Given the description of an element on the screen output the (x, y) to click on. 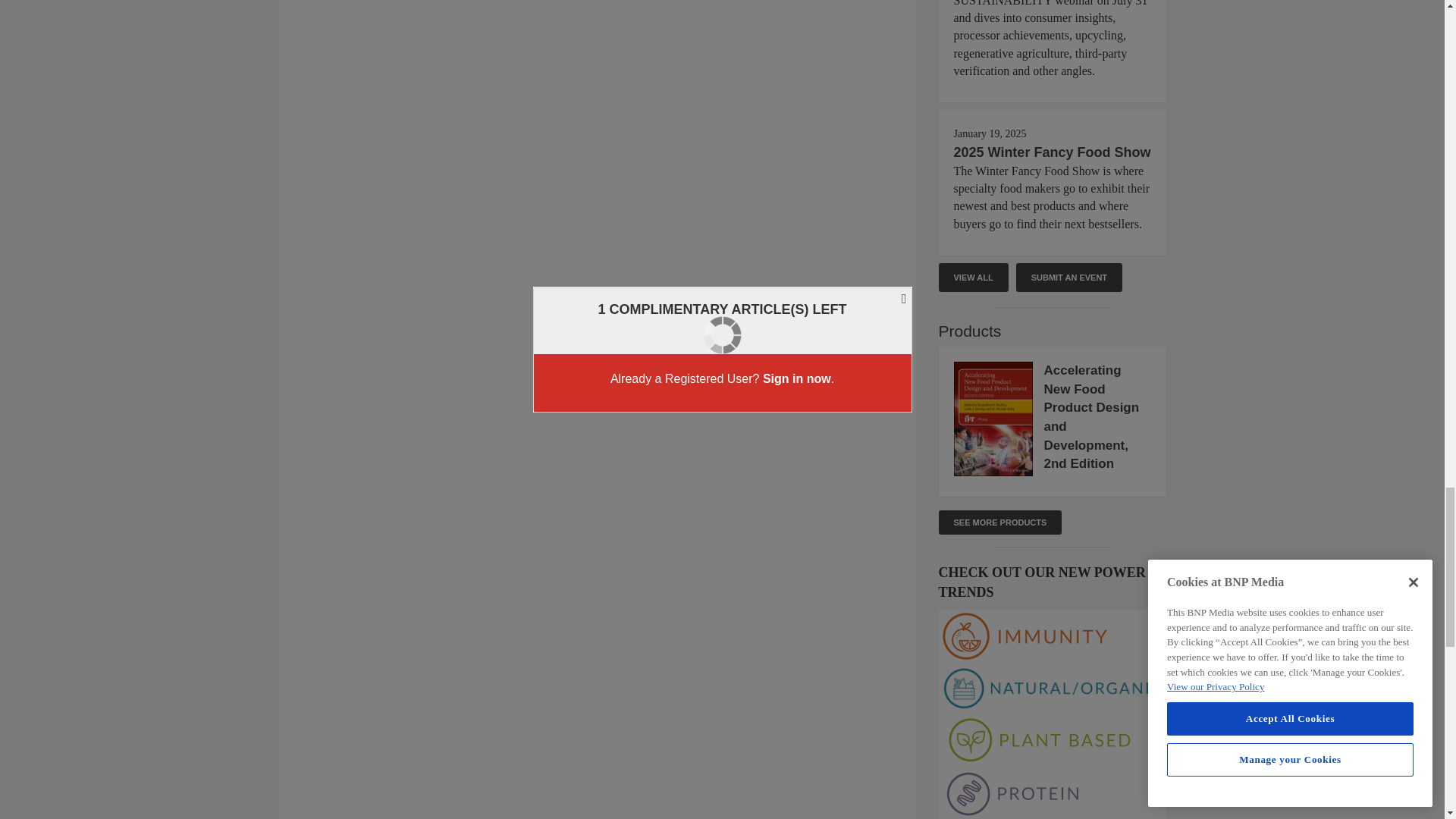
2025 Winter Fancy Food Show (1052, 151)
